Given the description of an element on the screen output the (x, y) to click on. 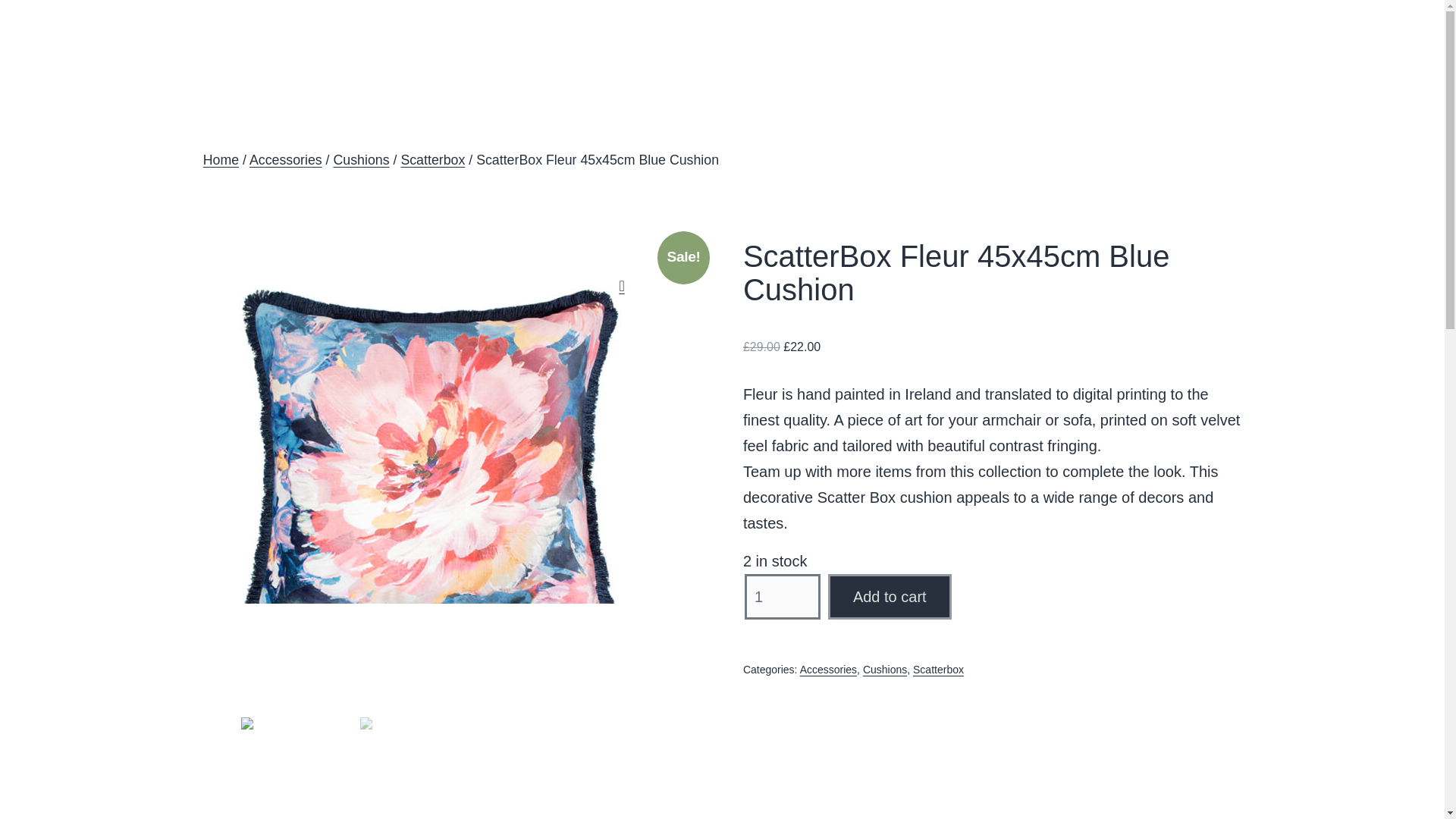
Qty (782, 596)
Scatterbox (432, 159)
Accessories (828, 669)
Accessories (284, 159)
1 (782, 596)
Cushions (361, 159)
Add to cart (890, 596)
Cushions (885, 669)
Home (220, 159)
Scatterbox (937, 669)
